Given the description of an element on the screen output the (x, y) to click on. 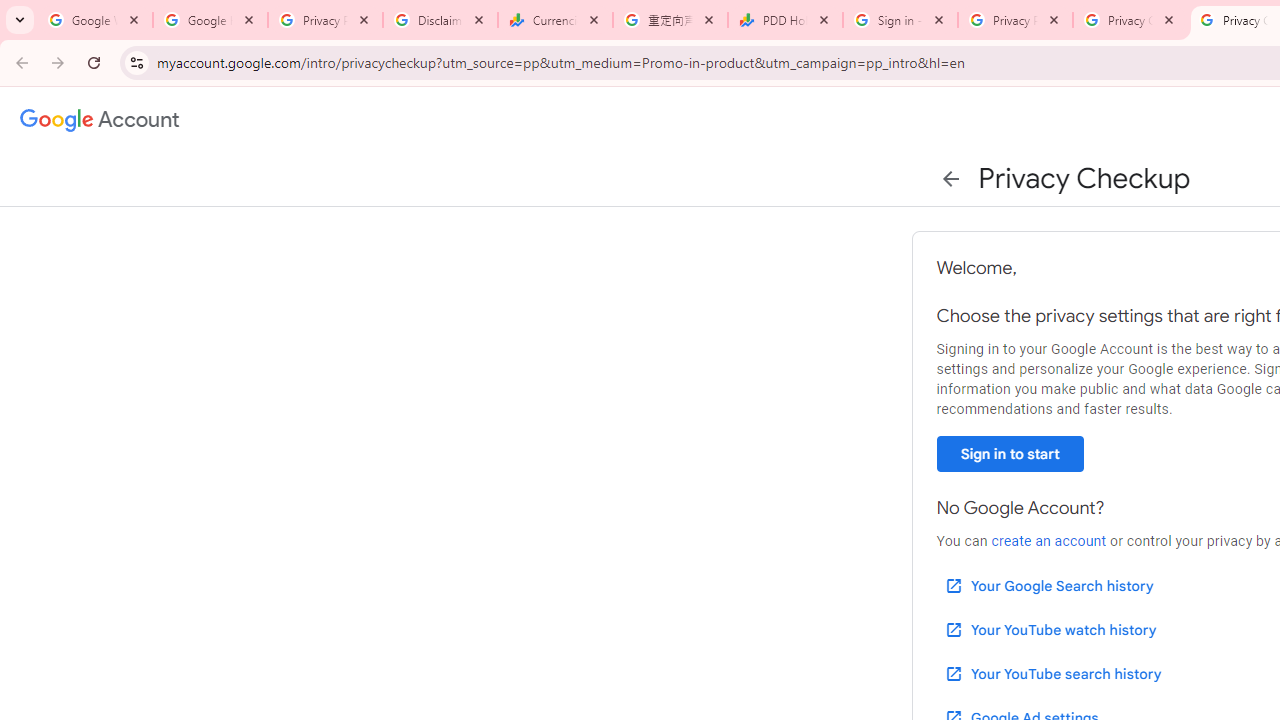
Your Google Search history (1048, 586)
Google Workspace Admin Community (95, 20)
Sign in to start (1009, 454)
Your YouTube watch history (1049, 630)
Your YouTube search history (1052, 673)
PDD Holdings Inc - ADR (PDD) Price & News - Google Finance (785, 20)
Sign in - Google Accounts (900, 20)
